Given the description of an element on the screen output the (x, y) to click on. 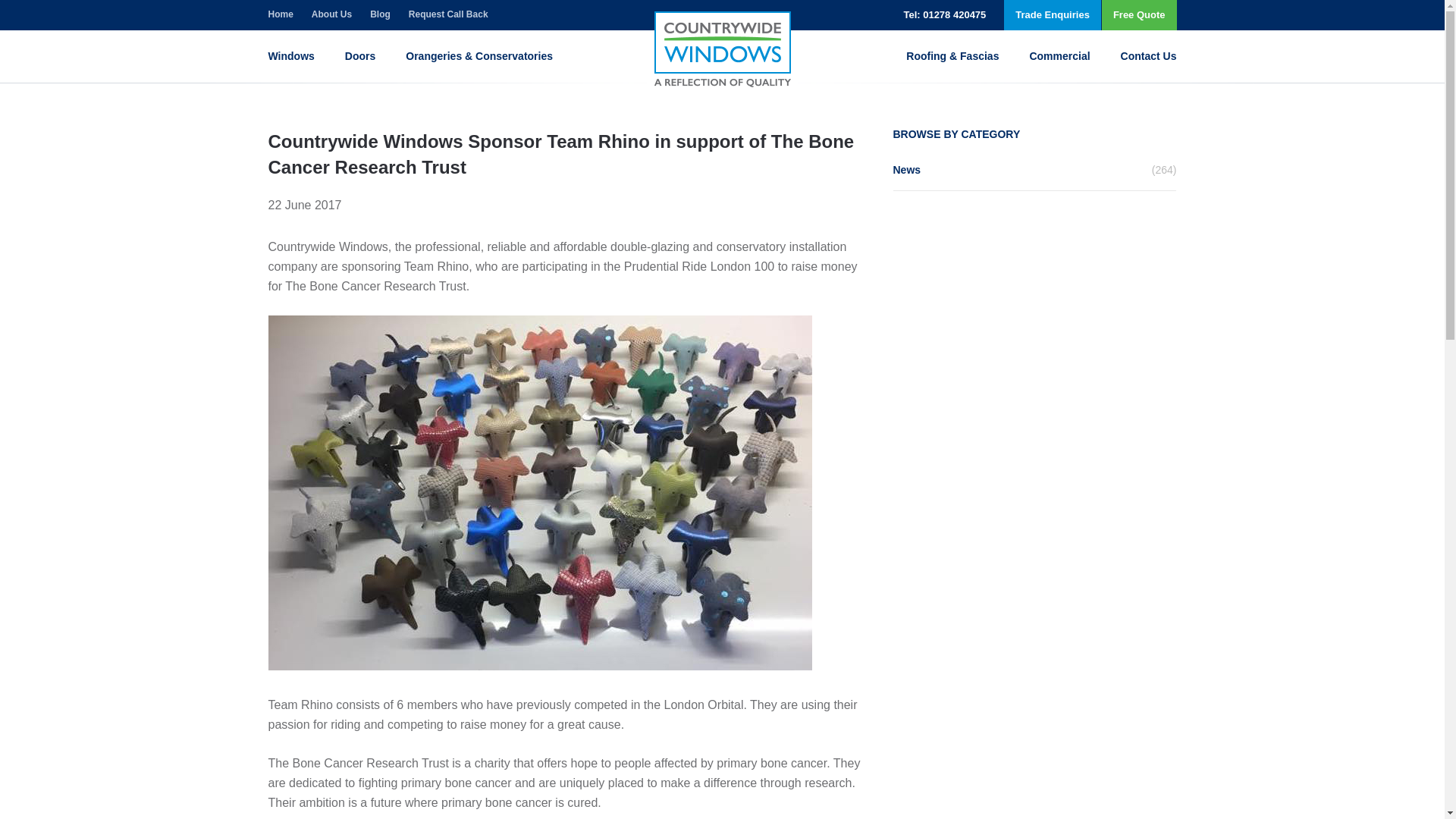
Countrywide Windows (721, 48)
About Us (331, 15)
Trade Enquiries (1052, 15)
Contact Us (1148, 56)
About Us (331, 15)
Request Call Back (448, 15)
Free Quote (1139, 15)
Request Call Back (448, 15)
Commercial (1059, 56)
Free Quote (1139, 15)
